Given the description of an element on the screen output the (x, y) to click on. 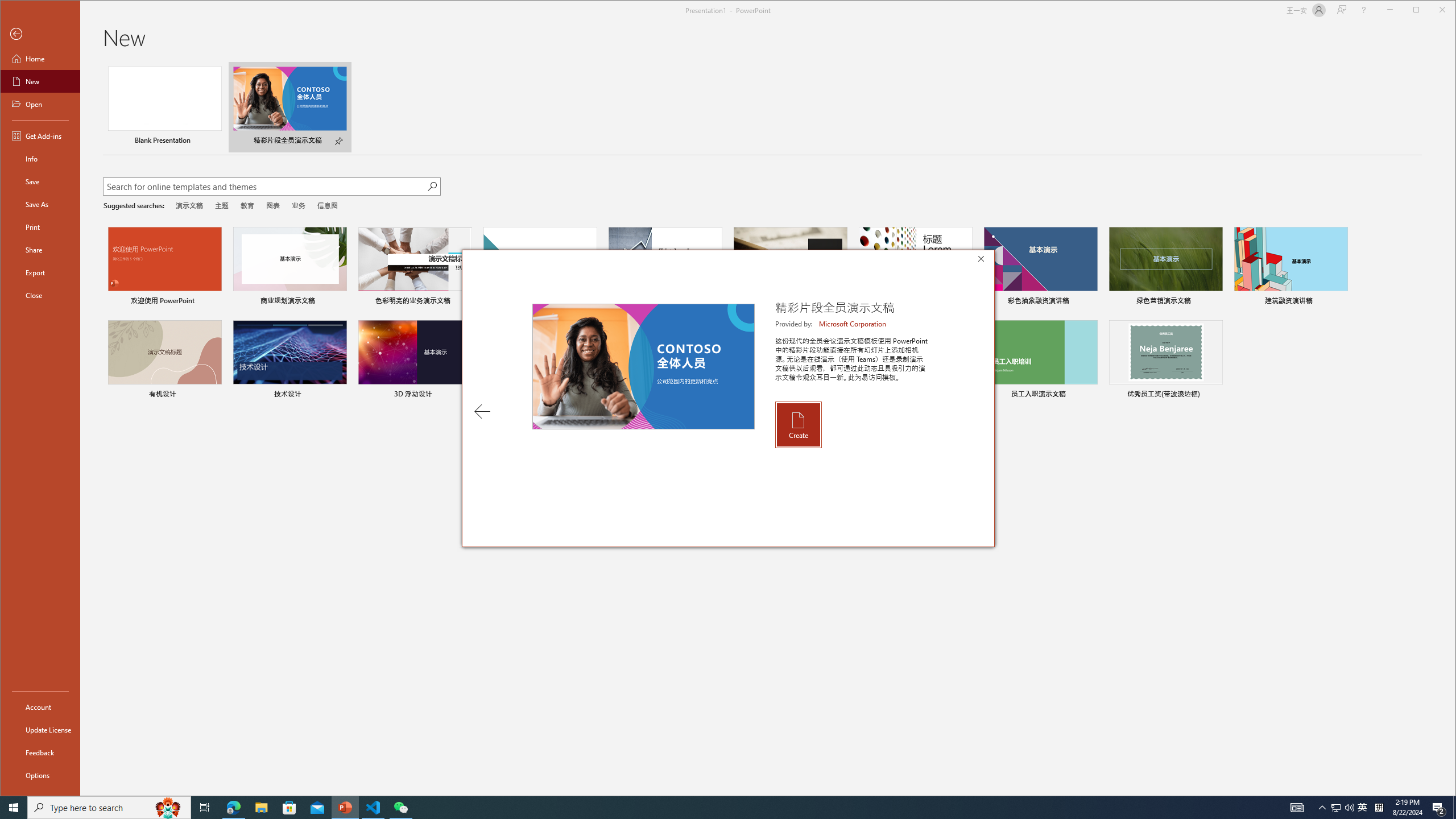
Notification Chevron (1322, 807)
Microsoft Corporation (853, 323)
Back (40, 34)
Start searching (431, 185)
Export (40, 272)
WeChat - 1 running window (400, 807)
Type here to search (108, 807)
Previous Template (481, 411)
